Given the description of an element on the screen output the (x, y) to click on. 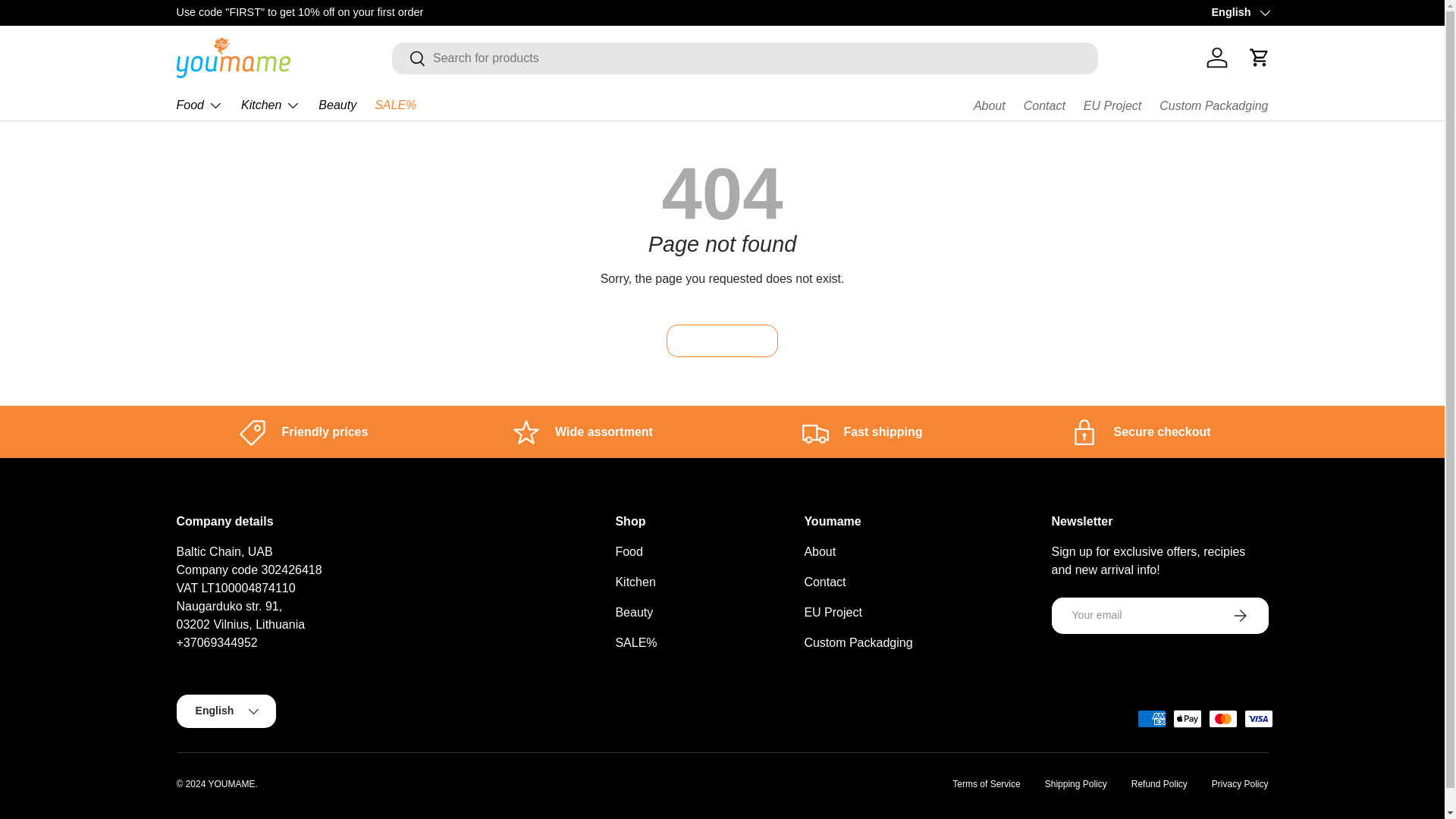
Log in (1216, 57)
English (1239, 12)
Food (199, 105)
Cart (1258, 57)
Skip to content (68, 21)
Search (408, 58)
